Given the description of an element on the screen output the (x, y) to click on. 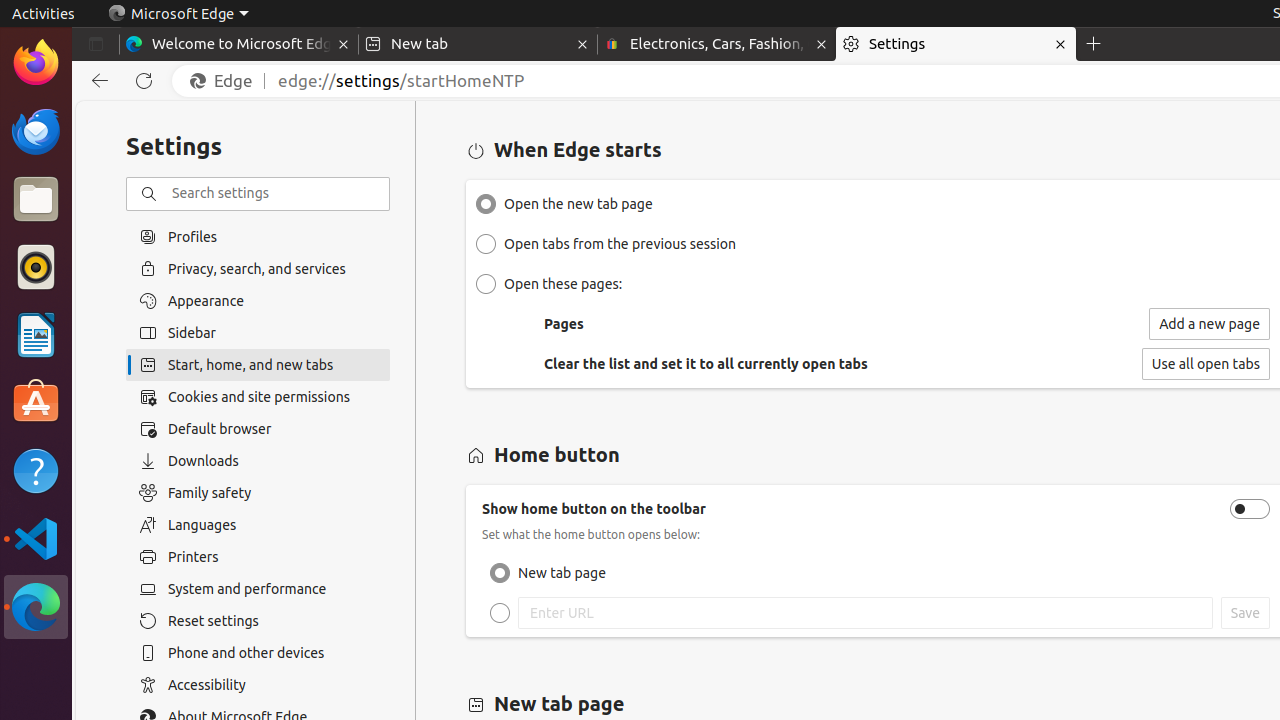
System and performance Element type: tree-item (258, 589)
Open these pages: Element type: radio-button (486, 284)
Downloads Element type: tree-item (258, 461)
